Given the description of an element on the screen output the (x, y) to click on. 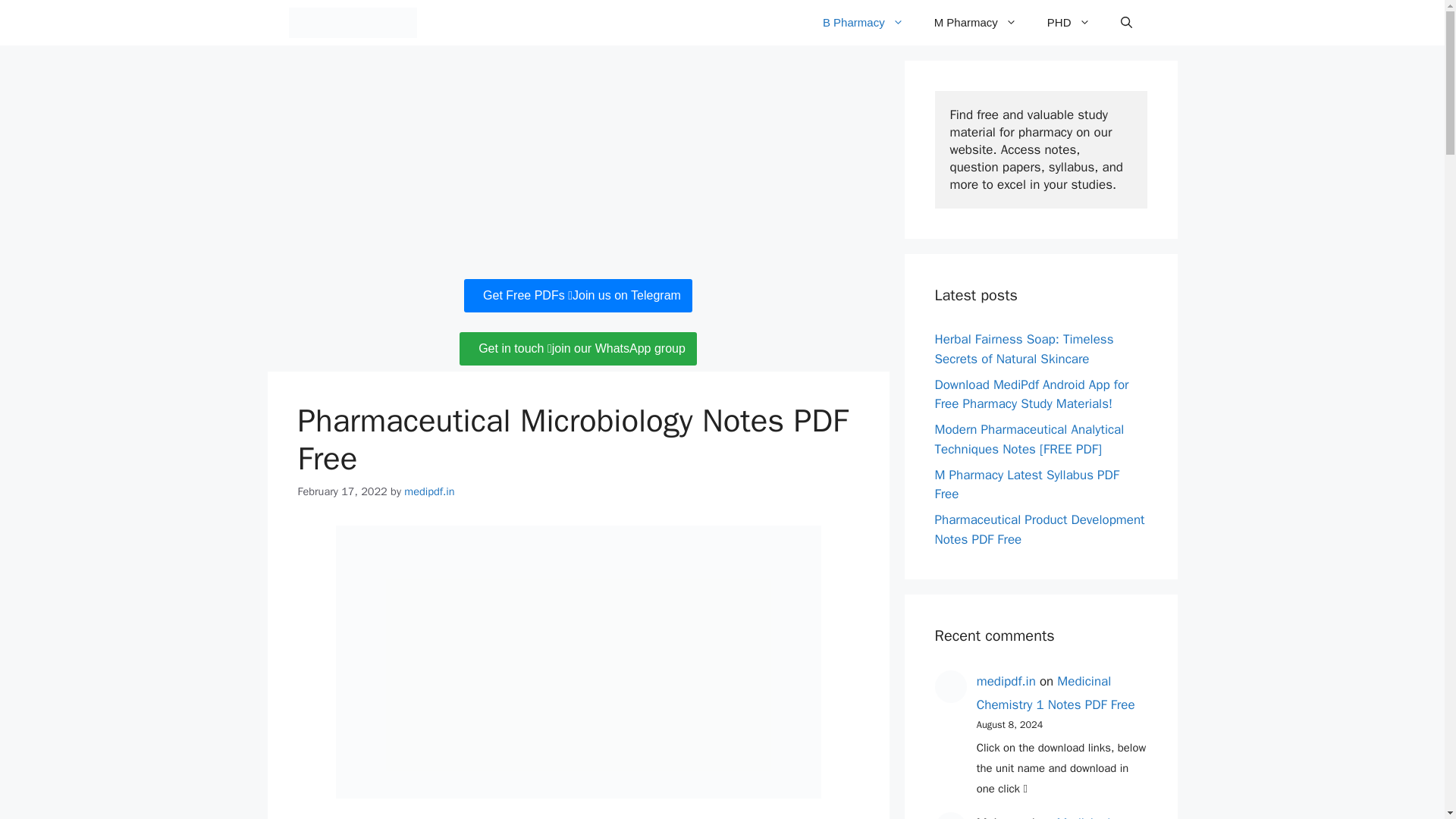
Advertisement (577, 166)
M Pharmacy (975, 22)
View all posts by medipdf.in (429, 490)
Pharmaceutical Microbiology Notes PDF Free 1 (577, 661)
PHD (1068, 22)
medipdf.in (429, 490)
B Pharmacy (863, 22)
MediPdf (352, 22)
